Given the description of an element on the screen output the (x, y) to click on. 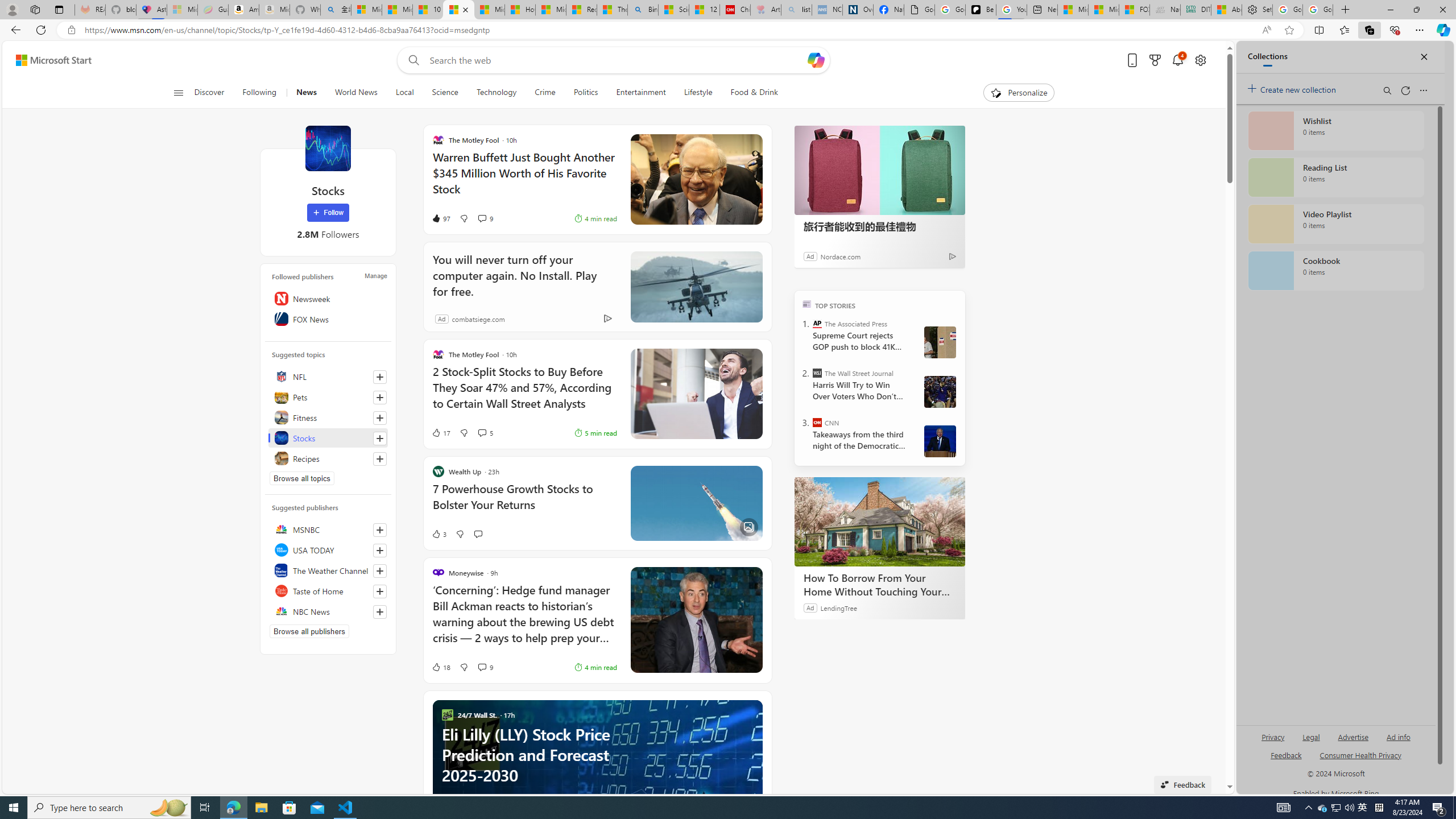
Recipes (327, 458)
Science (444, 92)
World News (355, 92)
Browse all publishers (309, 631)
Follow this topic (379, 459)
The Associated Press (816, 323)
Food & Drink (753, 92)
97 Like (440, 218)
Technology (496, 92)
